Given the description of an element on the screen output the (x, y) to click on. 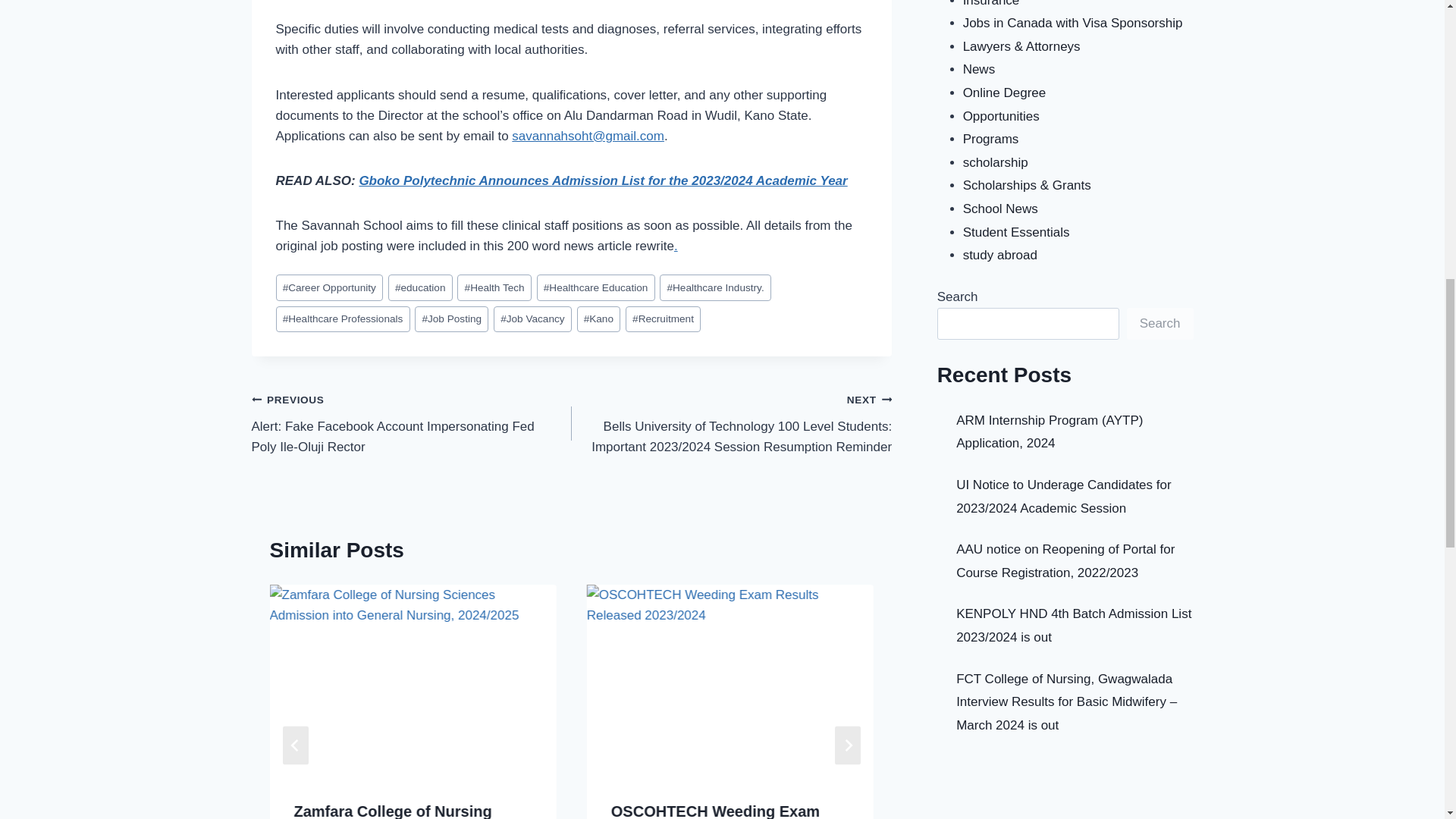
Health Tech (494, 287)
Healthcare Professionals (343, 319)
Job Vacancy (532, 319)
Healthcare Industry. (715, 287)
Kano (598, 319)
Healthcare Education (596, 287)
Job Posting (450, 319)
Career Opportunity (329, 287)
education (420, 287)
